Given the description of an element on the screen output the (x, y) to click on. 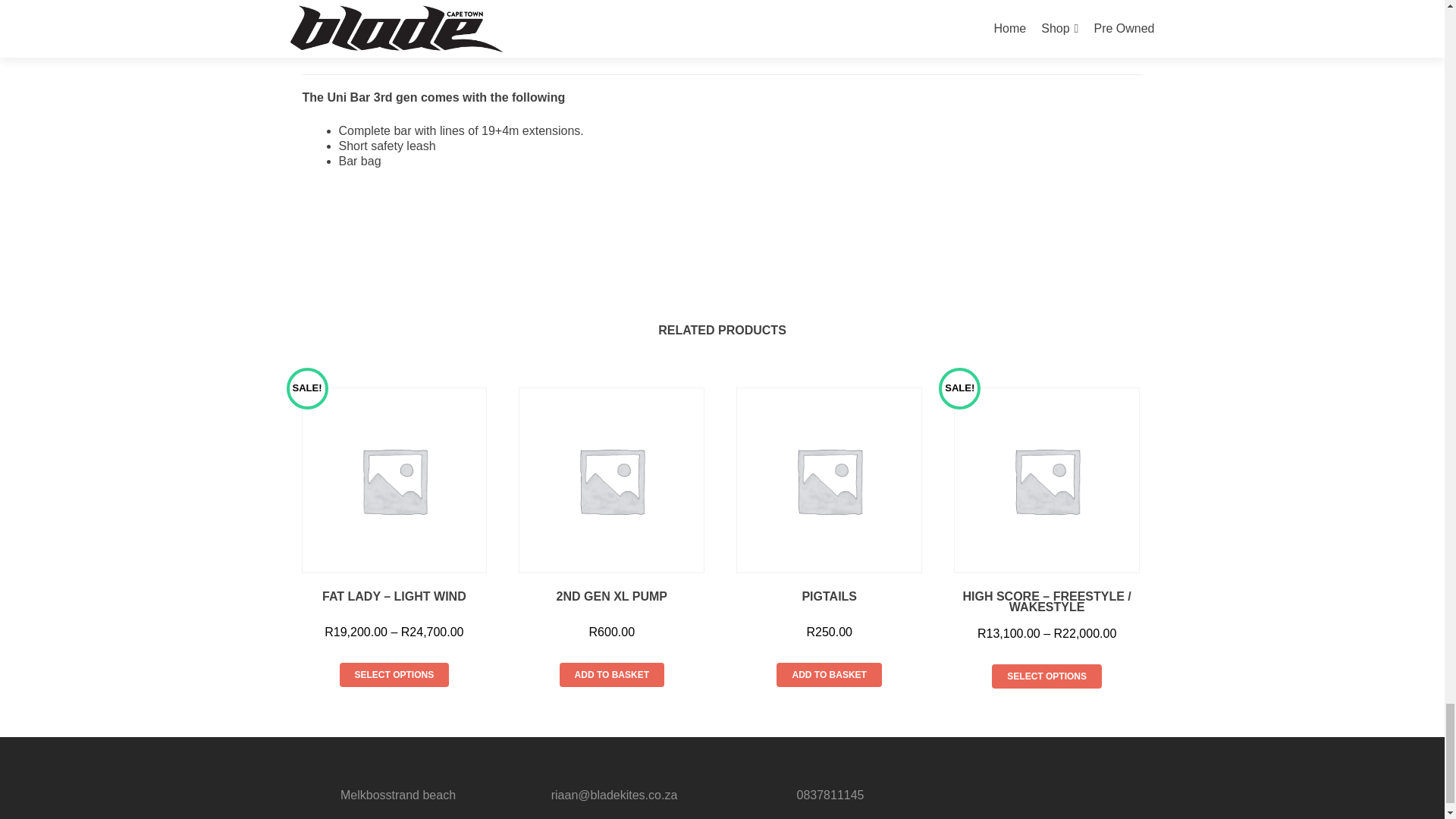
0837811145 (829, 794)
SELECT OPTIONS (611, 502)
SELECT OPTIONS (1046, 676)
ADD TO BASKET (394, 674)
ADD TO BASKET (611, 674)
